Given the description of an element on the screen output the (x, y) to click on. 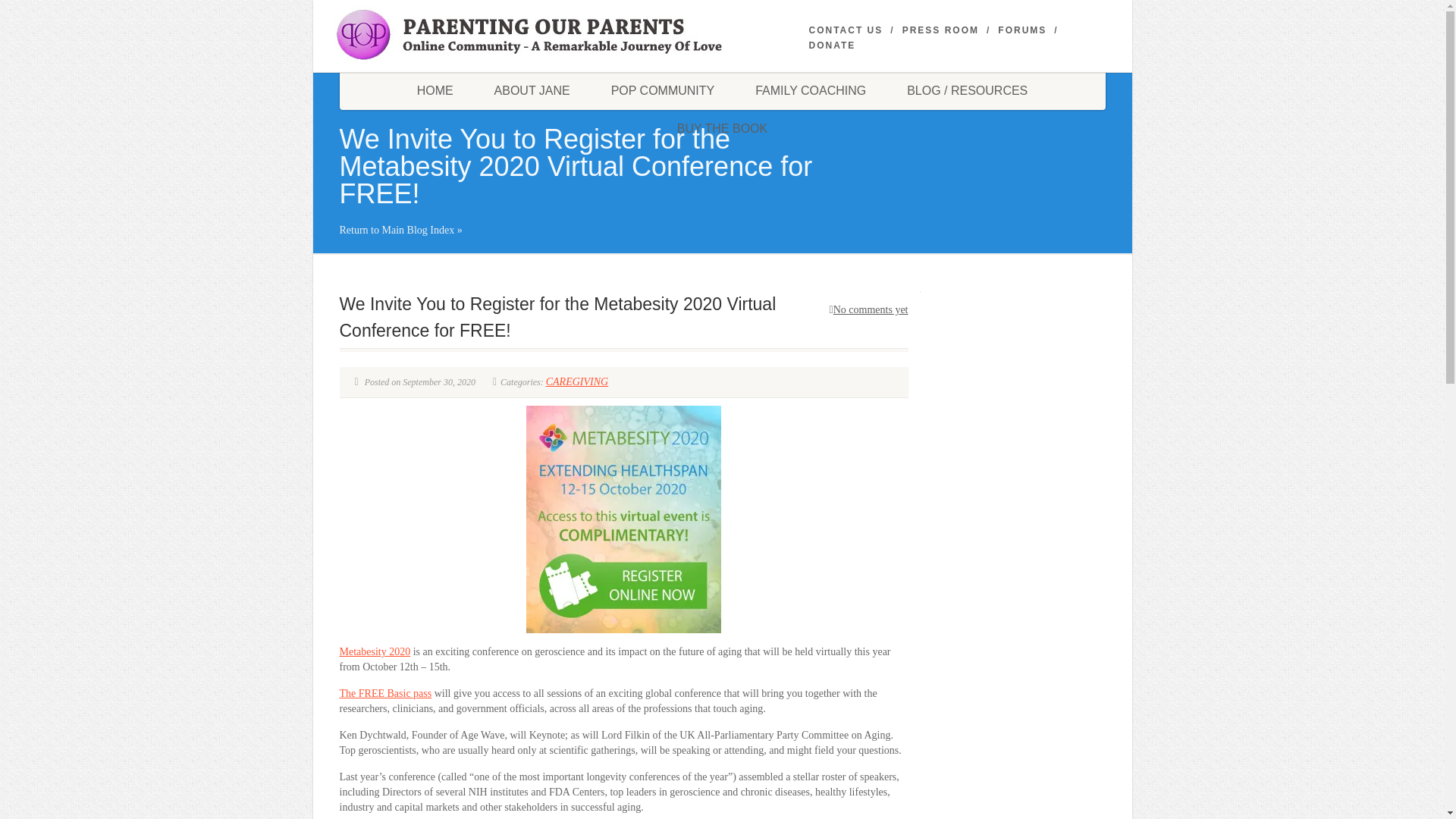
POP Community (662, 90)
CONTACT US (845, 29)
HOME (434, 90)
ABOUT JANE (532, 90)
FAMILY COACHING (810, 90)
Family Coaching (810, 90)
BUY THE BOOK (722, 128)
FORUMS (1021, 29)
DONATE (832, 45)
POP COMMUNITY (662, 90)
PRESS ROOM (940, 29)
